Given the description of an element on the screen output the (x, y) to click on. 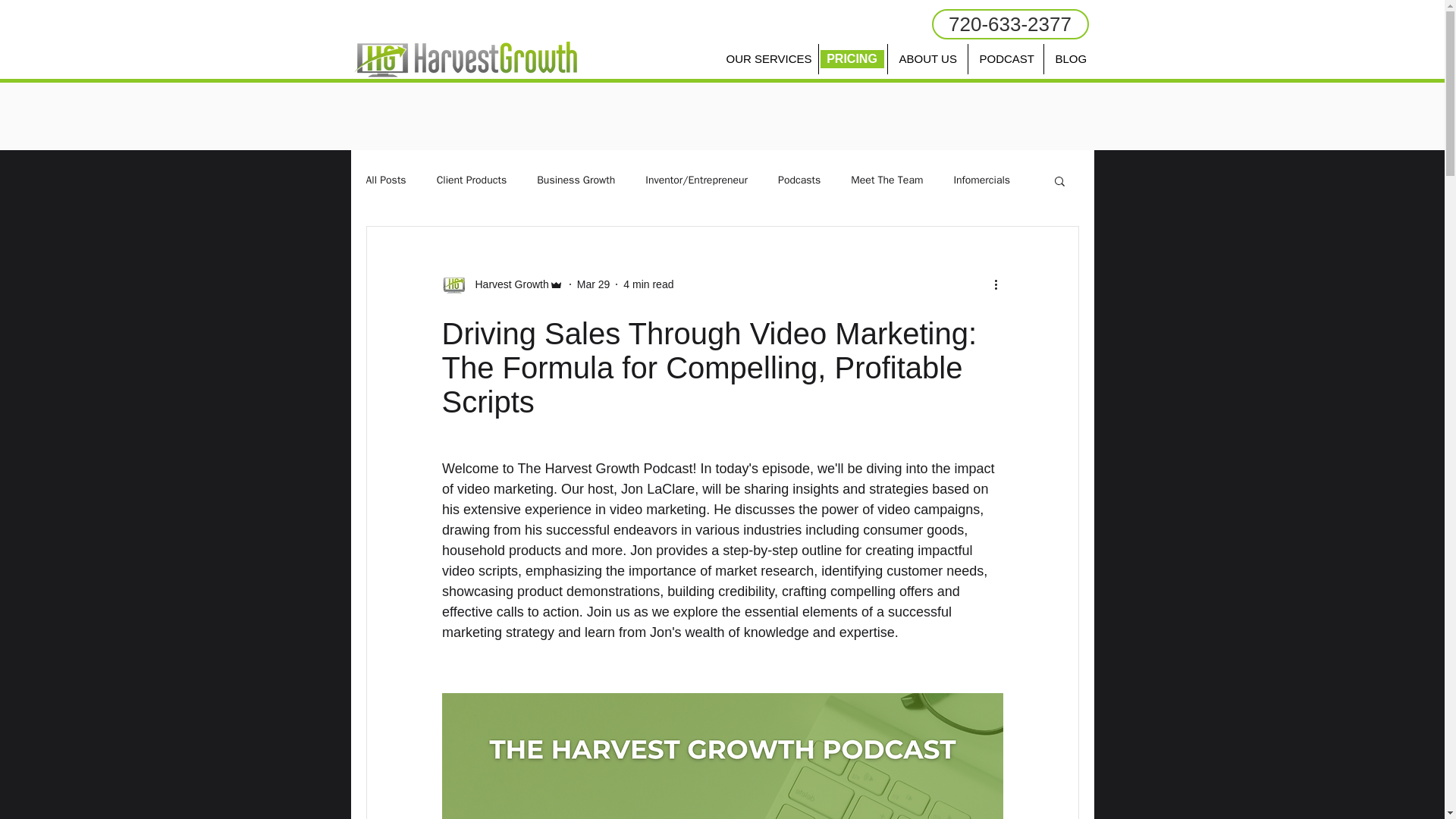
Meet The Team (886, 180)
720-633-2377 (1009, 24)
Business Growth (575, 180)
Mar 29 (593, 283)
Harvest Growth (506, 283)
ABOUT US (926, 59)
PODCAST (1005, 59)
Infomercials (981, 180)
OUR SERVICES (765, 59)
Client Products (471, 180)
